Given the description of an element on the screen output the (x, y) to click on. 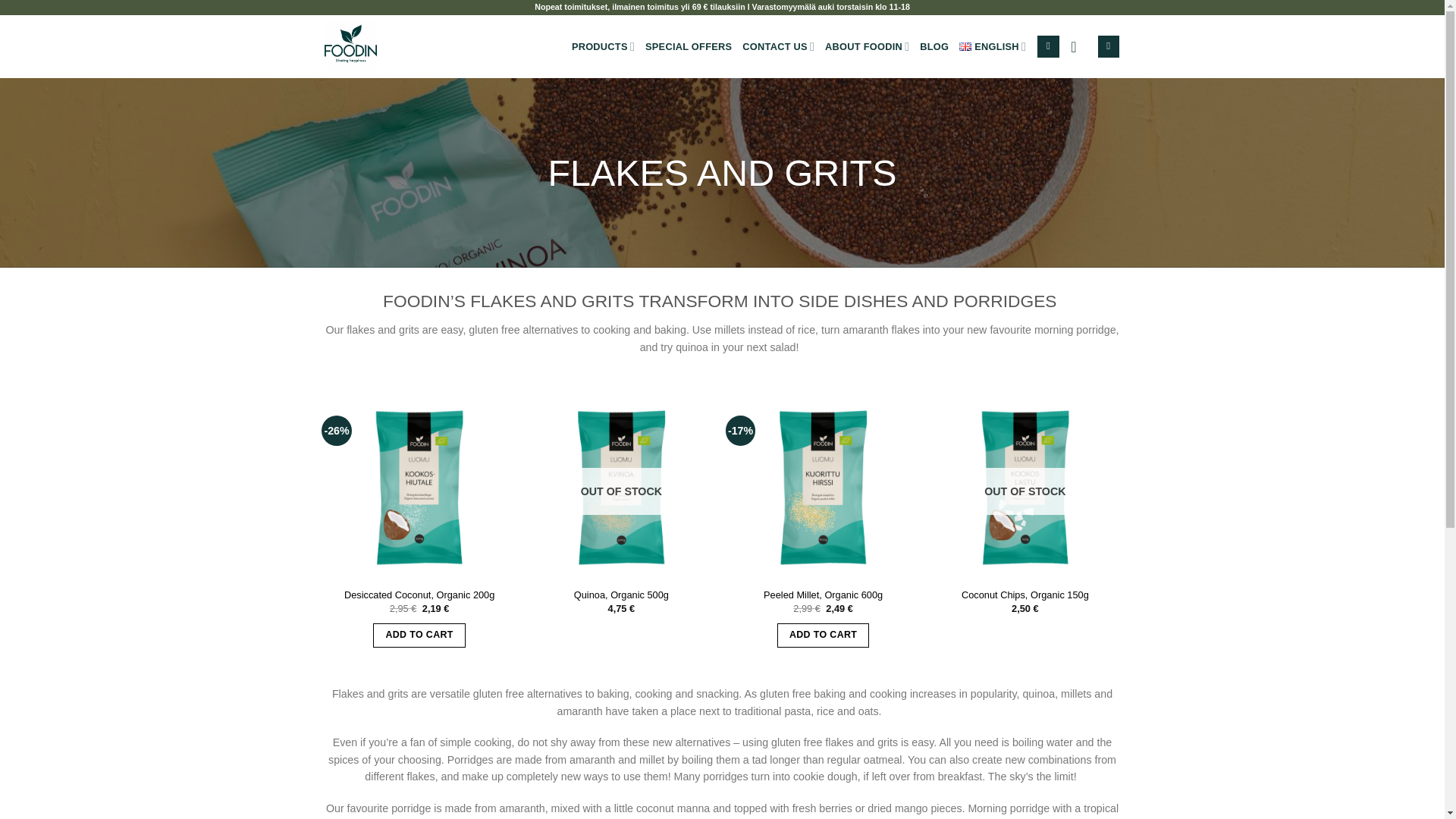
CONTACT US (777, 46)
SPECIAL OFFERS (688, 46)
Foodin - Sharing happiness (400, 46)
PRODUCTS (603, 46)
ABOUT FOODIN (866, 46)
Cart (1108, 46)
